Given the description of an element on the screen output the (x, y) to click on. 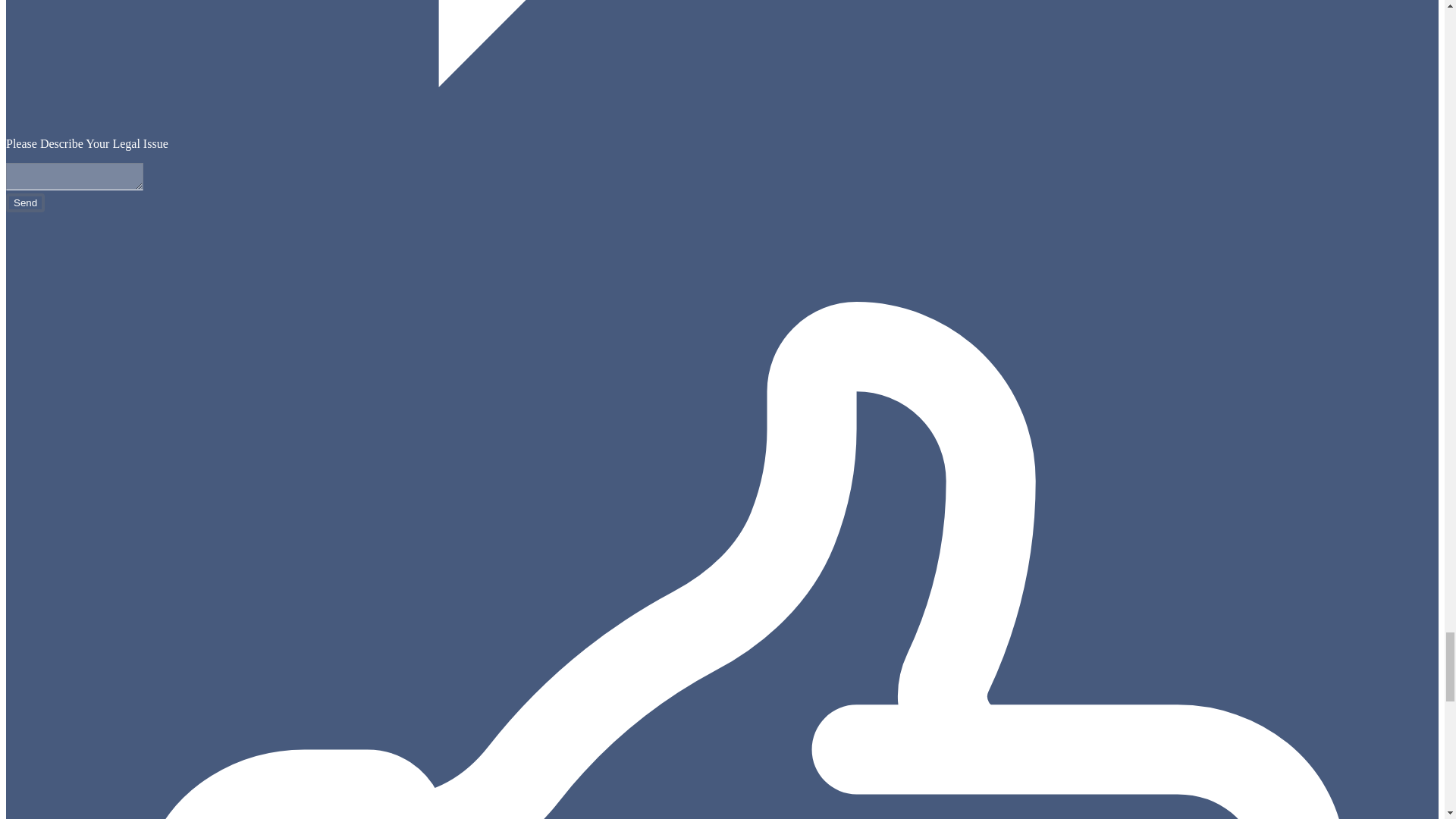
Send (25, 202)
